Given the description of an element on the screen output the (x, y) to click on. 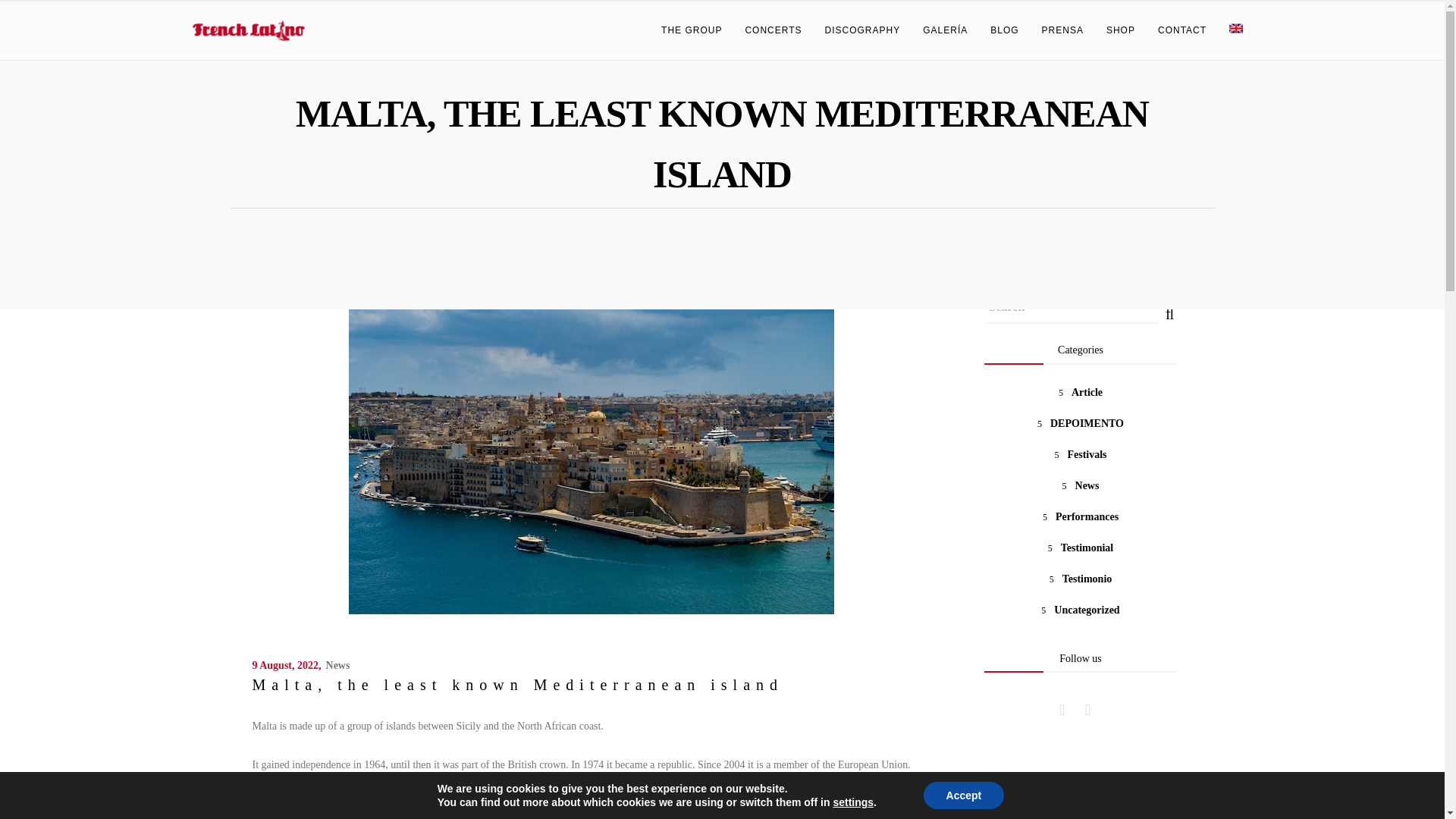
PRENSA (1062, 29)
CONCERTS (772, 29)
THE GROUP (691, 29)
SHOP (1120, 29)
CONTACT (1182, 29)
DISCOGRAPHY (862, 29)
BLOG (1003, 29)
